Given the description of an element on the screen output the (x, y) to click on. 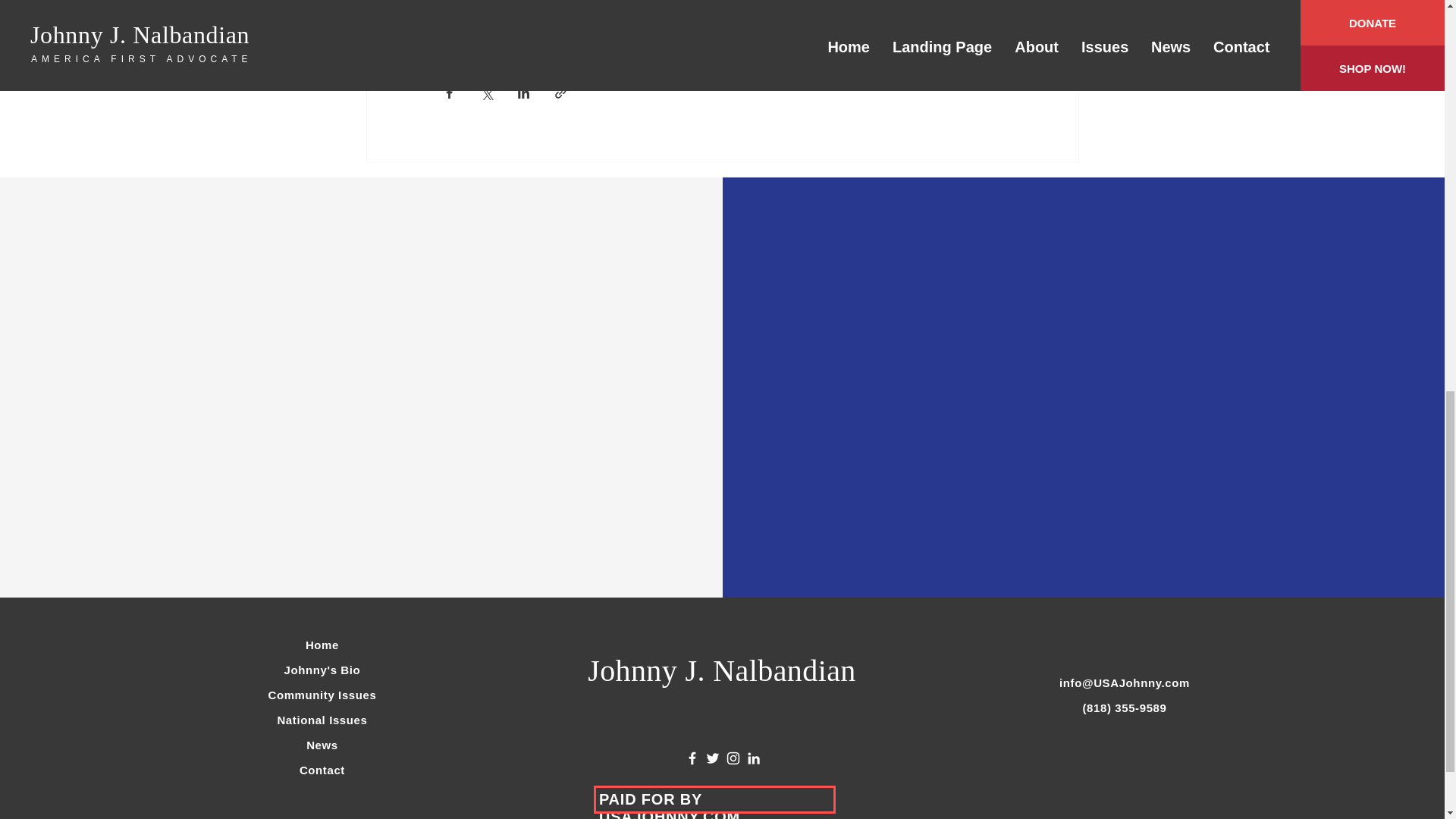
Home (322, 644)
News (321, 744)
National Issues (321, 719)
Community Issues (321, 694)
Contact (322, 769)
Johnny's Bio (322, 669)
